Given the description of an element on the screen output the (x, y) to click on. 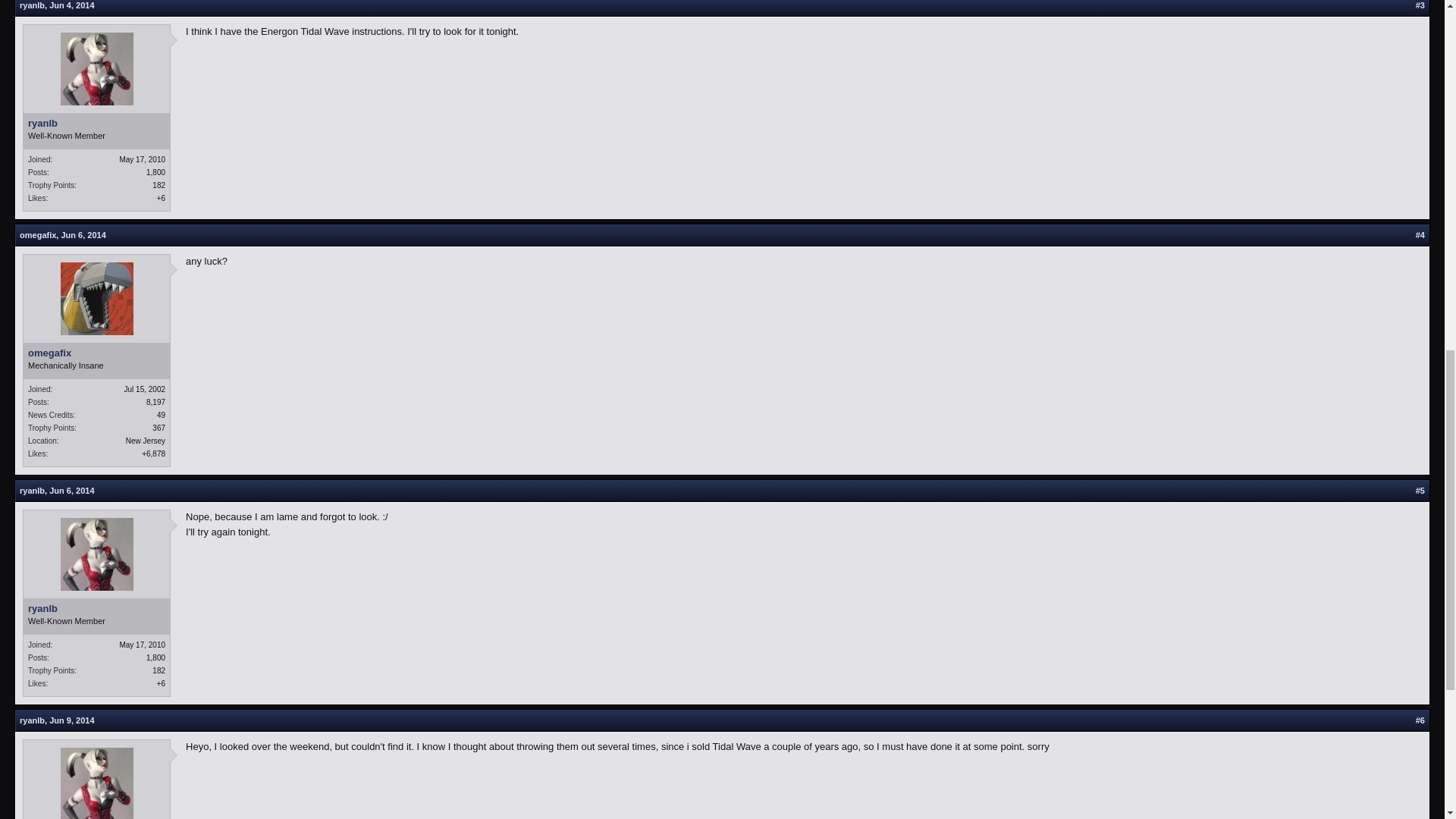
Jun 4, 2014 (71, 4)
Permalink (71, 719)
Permalink (82, 234)
ryanlb (32, 4)
1,800 (156, 172)
Jun 6, 2014 (82, 234)
ryanlb (96, 123)
182 (158, 184)
Permalink (71, 490)
omegafix (38, 234)
